Given the description of an element on the screen output the (x, y) to click on. 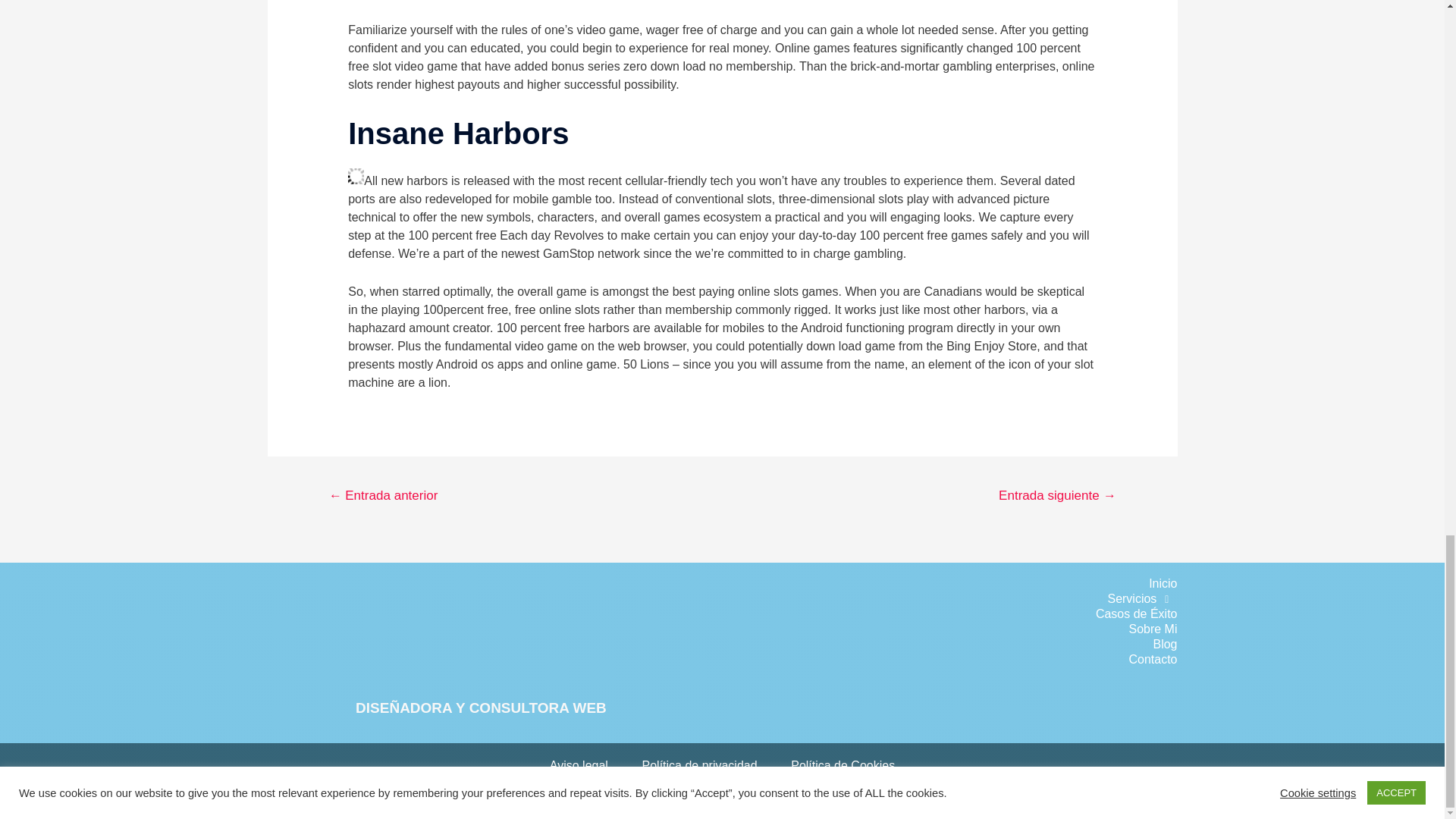
Aviso legal (578, 766)
Sobre Mi (935, 629)
Blog (935, 644)
Inicio (935, 583)
Servicios (935, 598)
Contacto (935, 659)
